Given the description of an element on the screen output the (x, y) to click on. 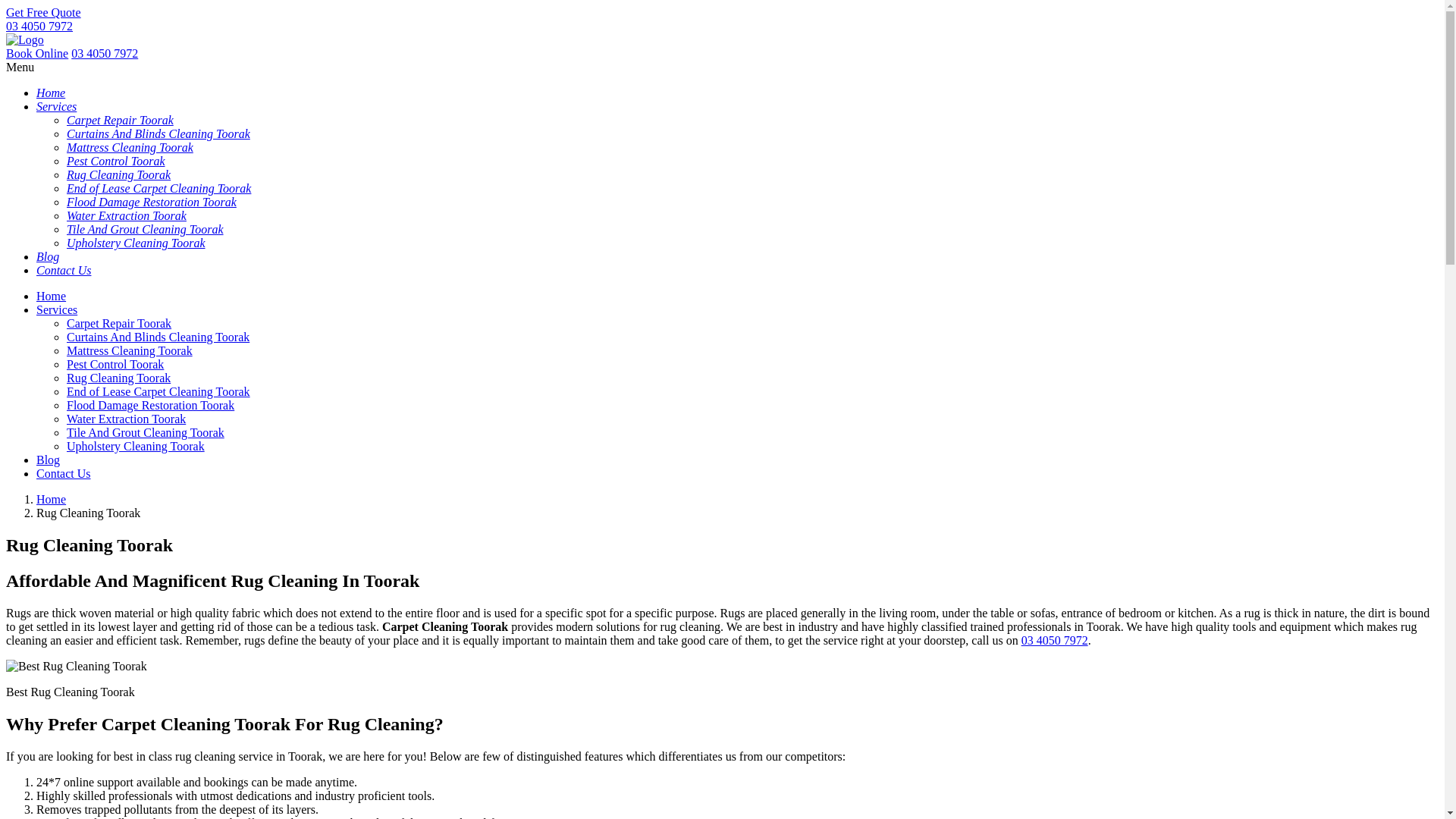
Services Element type: text (56, 309)
Curtains And Blinds Cleaning Toorak Element type: text (157, 336)
Contact Us Element type: text (63, 473)
Blog Element type: text (47, 459)
Flood Damage Restoration Toorak Element type: text (151, 201)
Tile And Grout Cleaning Toorak Element type: text (144, 228)
Water Extraction Toorak Element type: text (126, 215)
Contact Us Element type: text (63, 269)
Menu Element type: text (20, 66)
Carpet Repair Toorak Element type: text (118, 322)
Mattress Cleaning Toorak Element type: text (129, 147)
Rug Cleaning Toorak Element type: text (118, 174)
Curtains And Blinds Cleaning Toorak Element type: text (158, 133)
03 4050 7972 Element type: text (39, 25)
Upholstery Cleaning Toorak Element type: text (135, 242)
03 4050 7972 Element type: text (1054, 639)
Carpet Repair Toorak Element type: text (119, 119)
Home Element type: text (50, 92)
Water Extraction Toorak Element type: text (125, 418)
Flood Damage Restoration Toorak Element type: text (150, 404)
Book Online Element type: text (37, 53)
Tile And Grout Cleaning Toorak Element type: text (145, 432)
Rug Cleaning Toorak Element type: text (118, 377)
Pest Control Toorak Element type: text (114, 363)
End of Lease Carpet Cleaning Toorak Element type: text (158, 188)
Mattress Cleaning Toorak Element type: text (129, 350)
End of Lease Carpet Cleaning Toorak Element type: text (158, 391)
Services Element type: text (56, 106)
Home Element type: text (50, 295)
Pest Control Toorak Element type: text (115, 160)
Blog Element type: text (47, 256)
Home Element type: text (50, 498)
Upholstery Cleaning Toorak Element type: text (135, 445)
Get Free Quote Element type: text (43, 12)
03 4050 7972 Element type: text (104, 53)
